Given the description of an element on the screen output the (x, y) to click on. 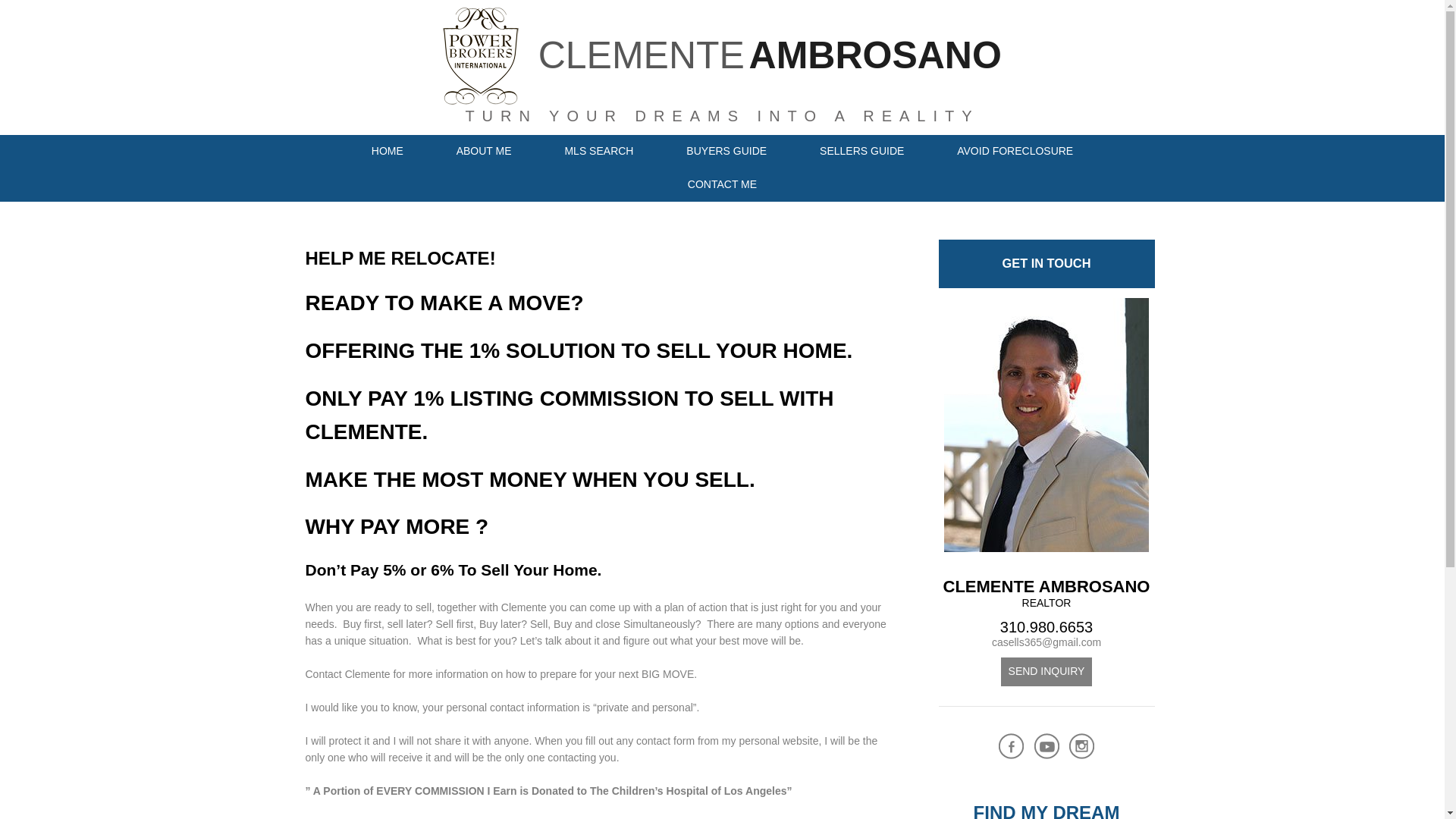
AVOID FORECLOSURE (1014, 151)
SEND INQUIRY (1047, 671)
CONTACT ME (721, 184)
CLEMENTE AMBROSANO TURN YOUR DREAMS INTO A REALITY (721, 84)
CELEMENTE AMBROSO  (721, 84)
BUYERS GUIDE (726, 151)
SELLERS GUIDE (861, 151)
MLS SEARCH (598, 151)
HOME (387, 151)
